Given the description of an element on the screen output the (x, y) to click on. 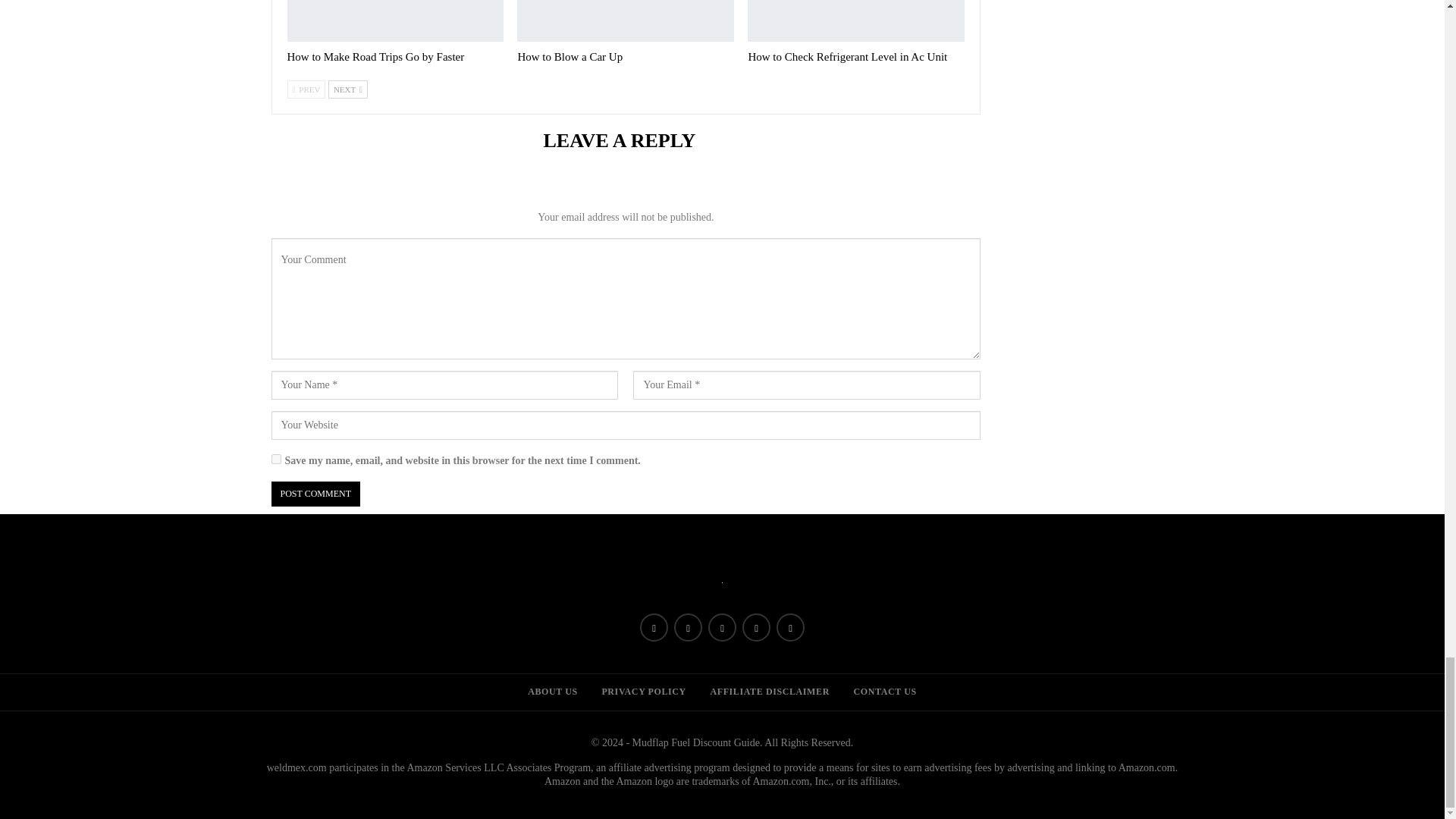
How to Make Road Trips Go by Faster (375, 56)
How to Check Refrigerant Level in Ac Unit (855, 20)
How to Check Refrigerant Level in Ac Unit (847, 56)
Previous (305, 89)
How to Blow a Car Up (624, 20)
Post Comment (314, 493)
How to Blow a Car Up (569, 56)
Next (348, 89)
yes (275, 459)
How to Make Road Trips Go by Faster (394, 20)
